Given the description of an element on the screen output the (x, y) to click on. 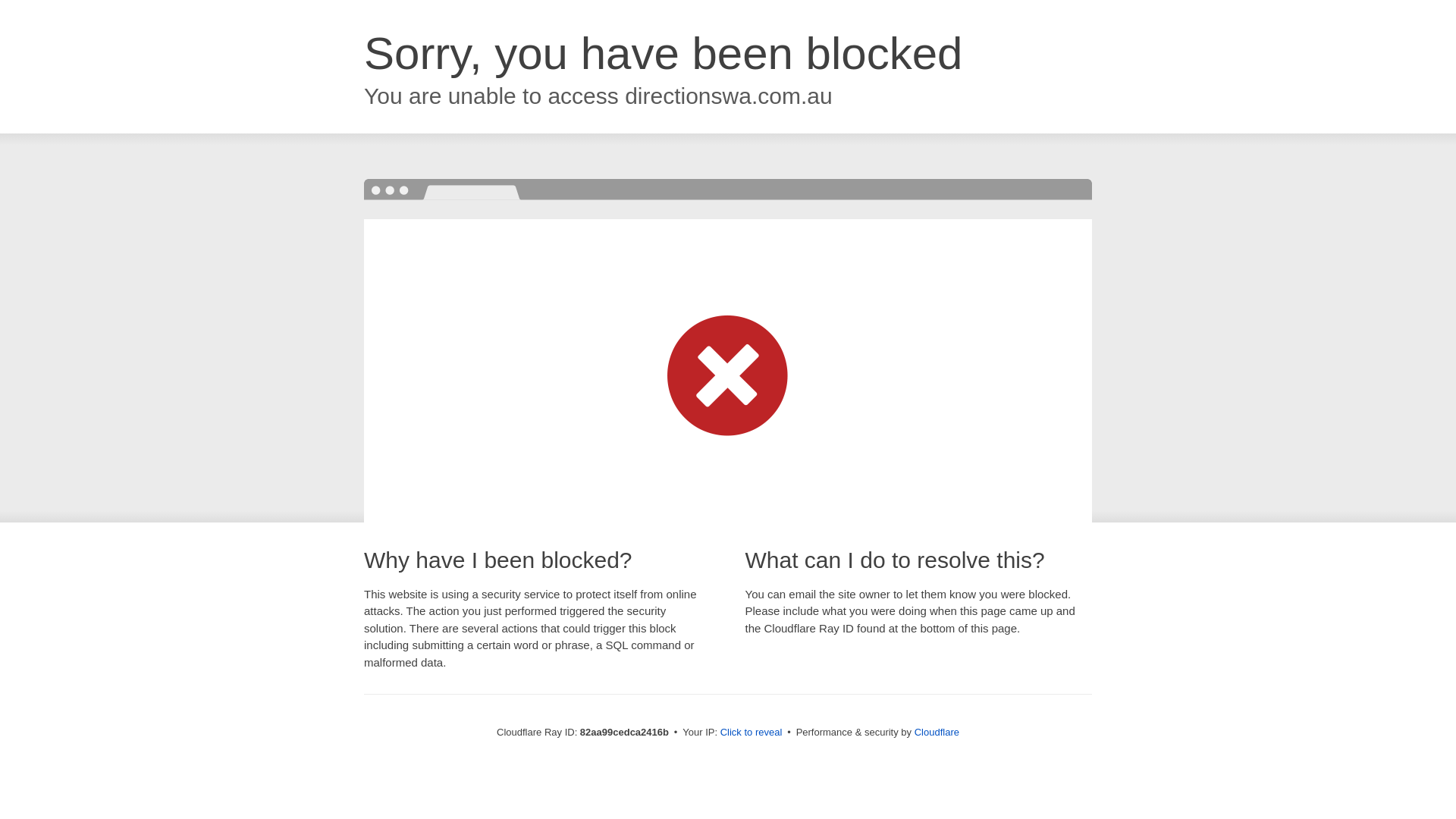
Cloudflare Element type: text (936, 731)
Click to reveal Element type: text (751, 732)
